Given the description of an element on the screen output the (x, y) to click on. 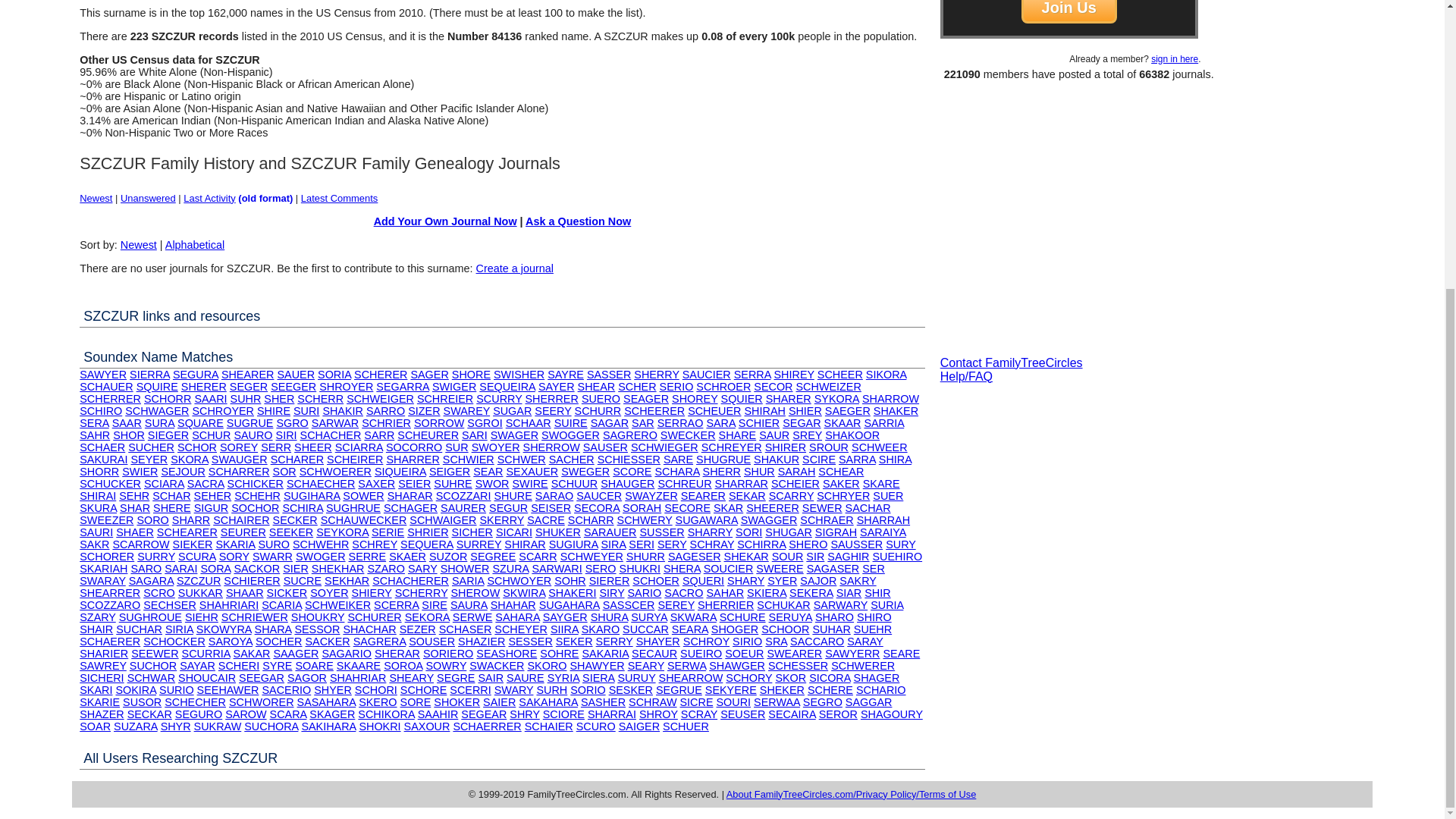
SAWYER (103, 374)
Latest Comments (339, 197)
Create a journal (514, 268)
Unanswered (148, 197)
SAUER (295, 374)
SHEARER (248, 374)
SEGURA (195, 374)
SIERRA (149, 374)
Ask a Question Now (577, 221)
Last Activity (208, 197)
